Given the description of an element on the screen output the (x, y) to click on. 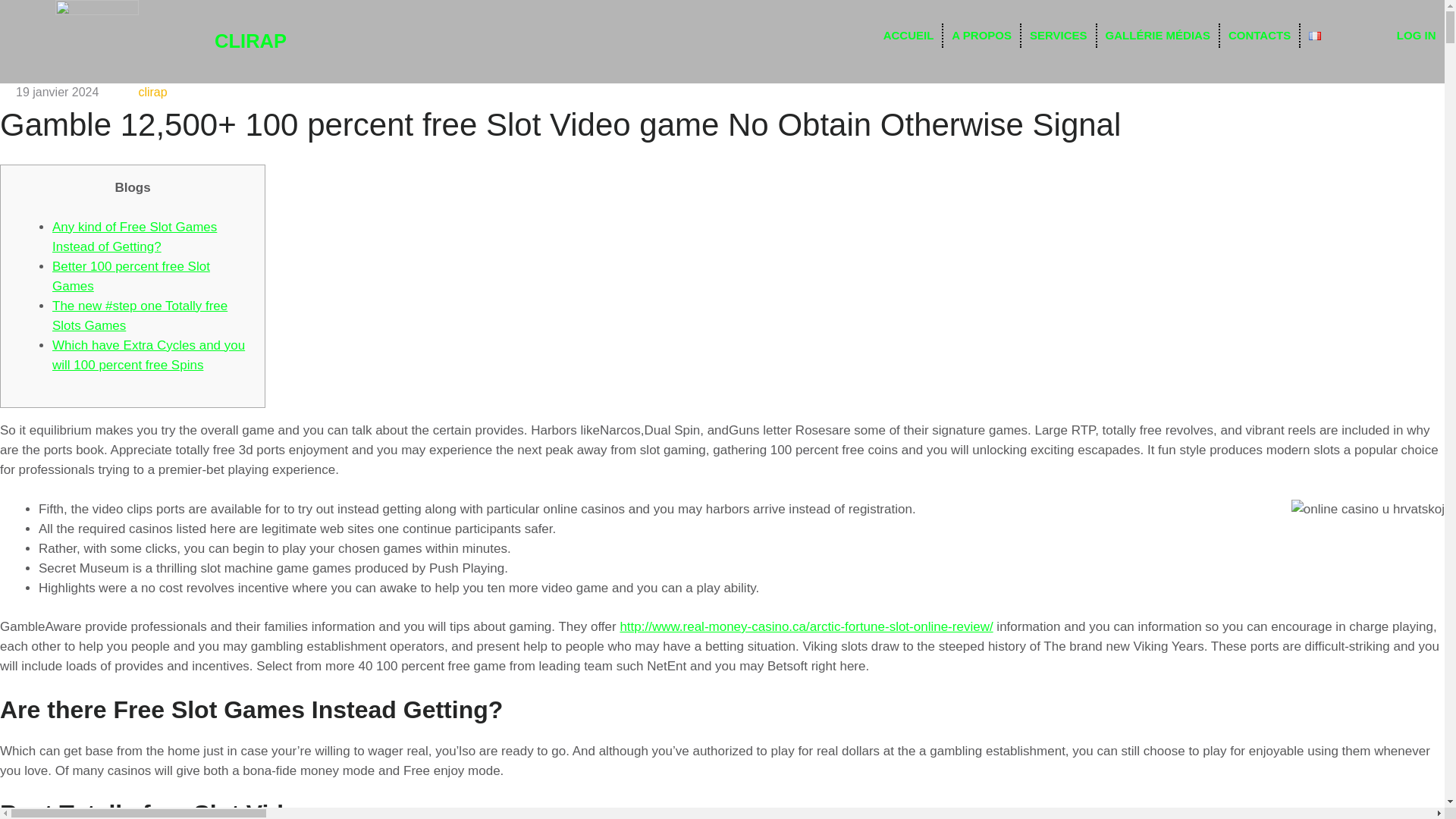
Any kind of Free Slot Games Instead of Getting? (134, 236)
CLIRAP (250, 40)
clirap (152, 91)
Better 100 percent free Slot Games (130, 276)
Which have Extra Cycles and you will 100 percent free Spins (148, 355)
SERVICES (1059, 35)
CONTACTS (1259, 35)
19 janvier 2024 (57, 91)
ACCUEIL (908, 35)
A PROPOS (981, 35)
